Given the description of an element on the screen output the (x, y) to click on. 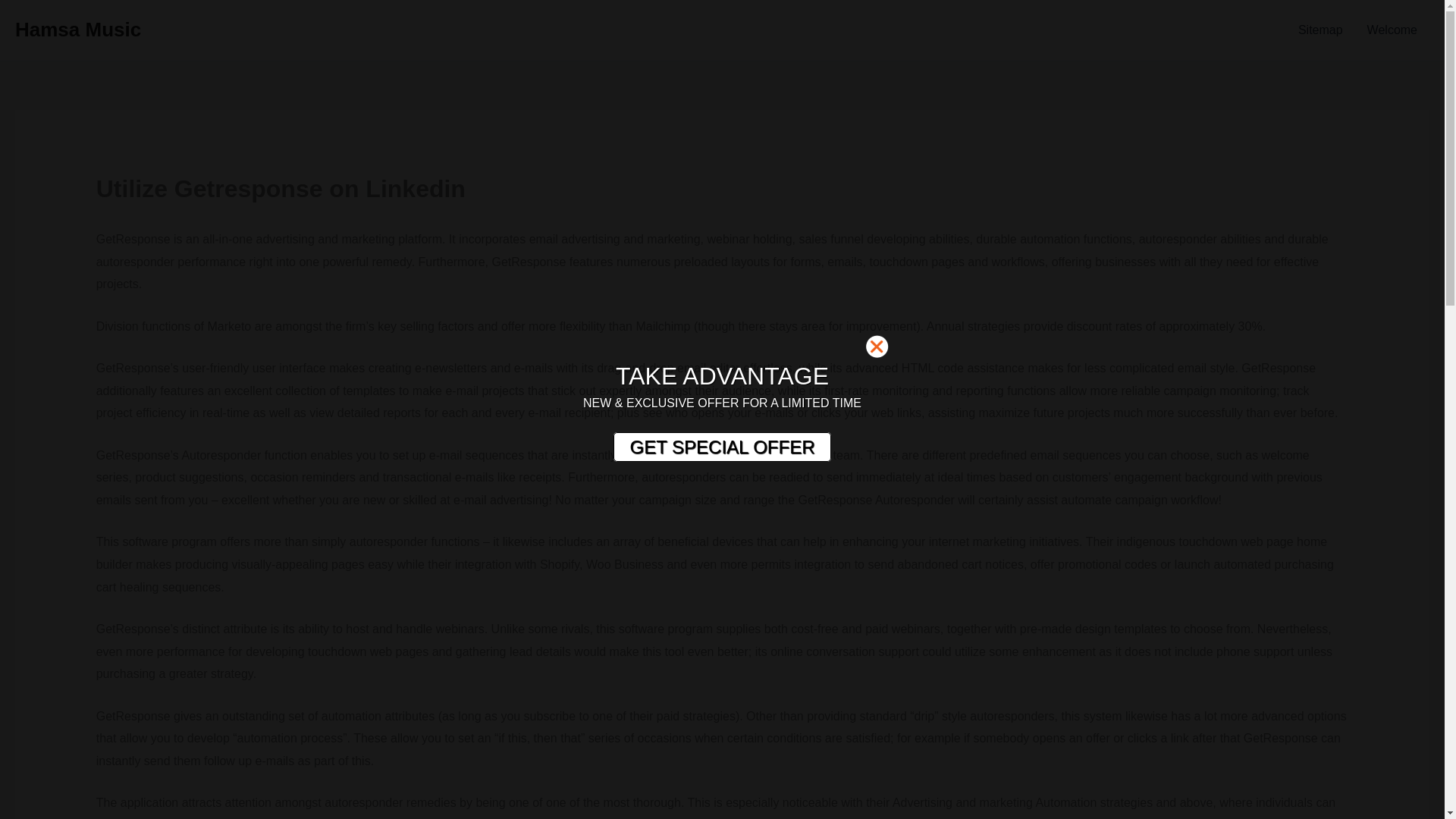
Hamsa Music (77, 29)
GET SPECIAL OFFER (720, 446)
Welcome (1392, 30)
Sitemap (1320, 30)
